Given the description of an element on the screen output the (x, y) to click on. 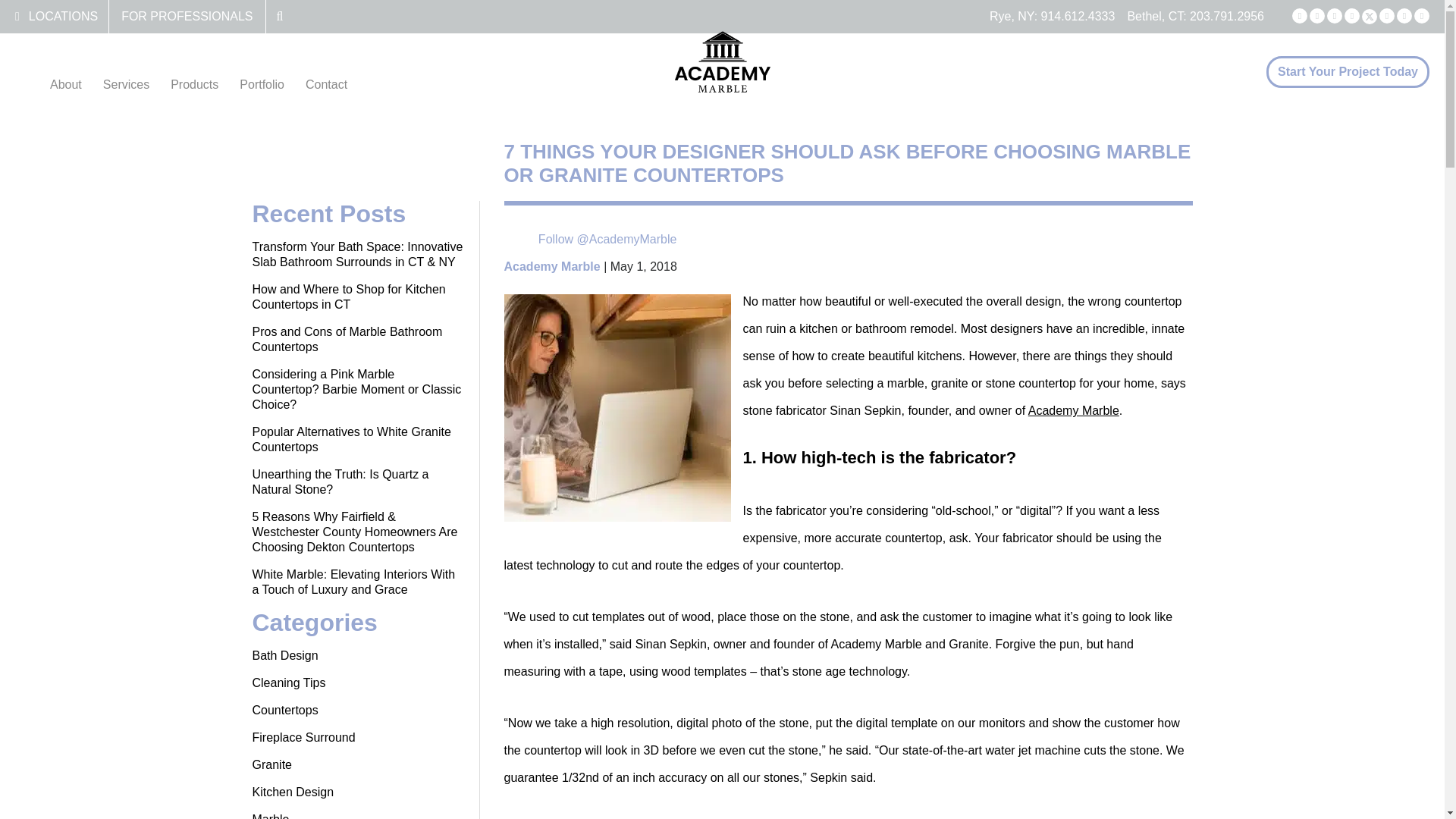
203.791.2956 (1226, 15)
LOCATIONS (63, 15)
FOR PROFESSIONALS (185, 15)
914.612.4333 (1078, 15)
